Given the description of an element on the screen output the (x, y) to click on. 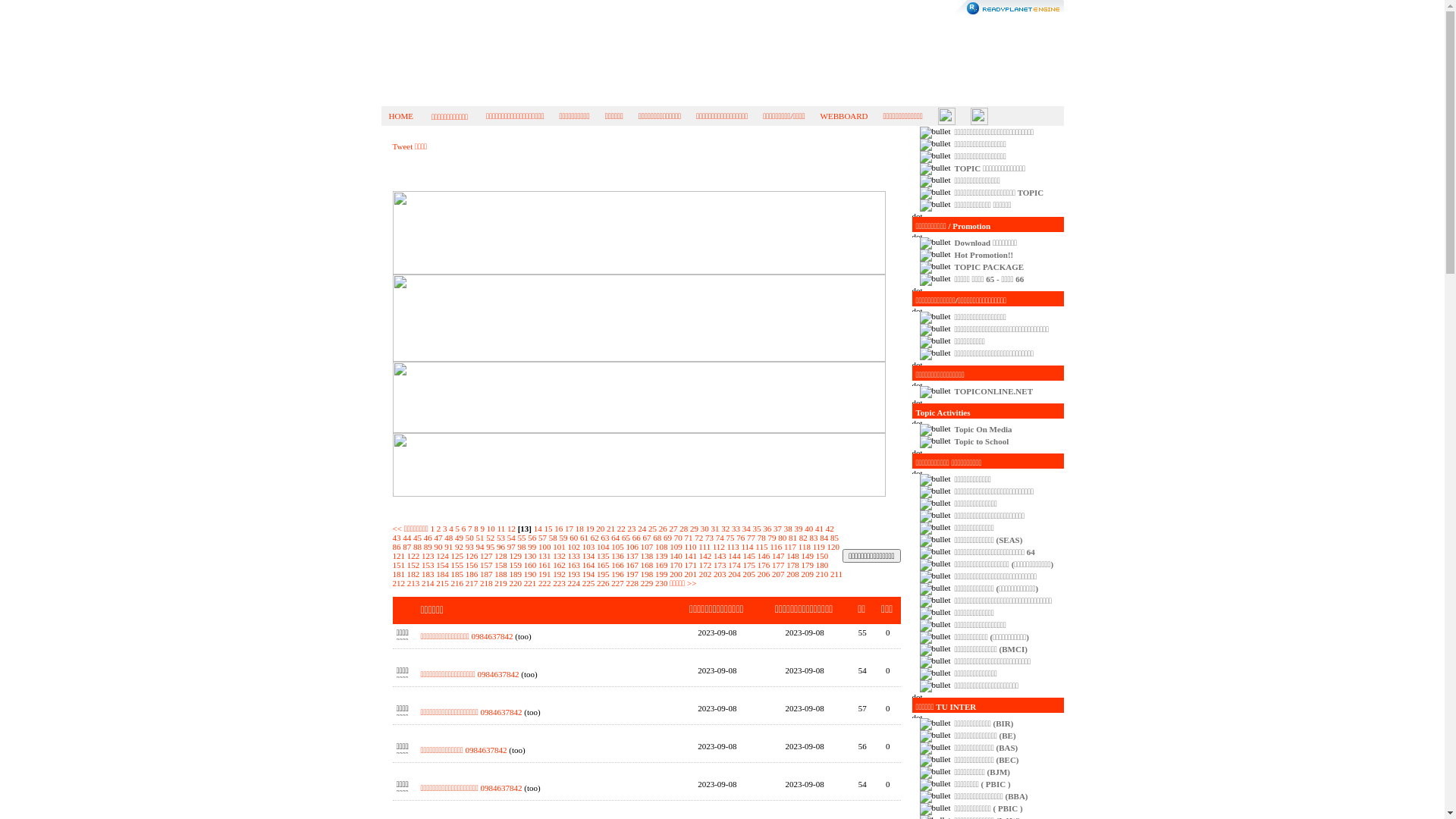
106 Element type: text (632, 546)
83 Element type: text (813, 537)
209 Element type: text (806, 573)
187 Element type: text (486, 573)
151 Element type: text (398, 564)
136 Element type: text (617, 555)
31 Element type: text (714, 528)
107 Element type: text (646, 546)
91 Element type: text (448, 546)
15 Element type: text (547, 528)
197 Element type: text (632, 573)
210 Element type: text (821, 573)
100 Element type: text (544, 546)
172 Element type: text (705, 564)
17 Element type: text (568, 528)
196 Element type: text (617, 573)
176 Element type: text (763, 564)
88 Element type: text (417, 546)
142 Element type: text (705, 555)
84 Element type: text (823, 537)
23 Element type: text (631, 528)
149 Element type: text (806, 555)
178 Element type: text (792, 564)
141 Element type: text (690, 555)
129 Element type: text (515, 555)
227 Element type: text (617, 582)
206 Element type: text (763, 573)
86 Element type: text (396, 546)
171 Element type: text (690, 564)
181 Element type: text (398, 573)
148 Element type: text (792, 555)
60 Element type: text (573, 537)
192 Element type: text (558, 573)
77 Element type: text (750, 537)
131 Element type: text (544, 555)
3 Element type: text (444, 528)
191 Element type: text (544, 573)
24 Element type: text (641, 528)
225 Element type: text (588, 582)
54 Element type: text (511, 537)
185 Element type: text (456, 573)
58 Element type: text (553, 537)
177 Element type: text (777, 564)
203 Element type: text (719, 573)
215 Element type: text (442, 582)
165 Element type: text (602, 564)
170 Element type: text (675, 564)
TOPIC PACKAGE Element type: text (989, 266)
64 Element type: text (615, 537)
214 Element type: text (427, 582)
208 Element type: text (792, 573)
101 Element type: text (558, 546)
146 Element type: text (763, 555)
137 Element type: text (632, 555)
45 Element type: text (417, 537)
230 Element type: text (661, 582)
32 Element type: text (725, 528)
14 Element type: text (537, 528)
105 Element type: text (617, 546)
40 Element type: text (808, 528)
80 Element type: text (782, 537)
195 Element type: text (602, 573)
150 Element type: text (821, 555)
90 Element type: text (437, 546)
156 Element type: text (471, 564)
66 Element type: text (636, 537)
111 Element type: text (704, 546)
217 Element type: text (471, 582)
118 Element type: text (804, 546)
204 Element type: text (734, 573)
200 Element type: text (675, 573)
120 Element type: text (833, 546)
134 Element type: text (588, 555)
160 Element type: text (530, 564)
117 Element type: text (790, 546)
85 Element type: text (834, 537)
132 Element type: text (558, 555)
65 Element type: text (625, 537)
190 Element type: text (530, 573)
7 Element type: text (469, 528)
205 Element type: text (749, 573)
155 Element type: text (456, 564)
138 Element type: text (646, 555)
Topic to School Element type: text (981, 440)
98 Element type: text (521, 546)
143 Element type: text (719, 555)
82 Element type: text (803, 537)
162 Element type: text (558, 564)
222 Element type: text (544, 582)
27 Element type: text (672, 528)
Hot Promotion!! Element type: text (983, 254)
18 Element type: text (579, 528)
59 Element type: text (563, 537)
52 Element type: text (490, 537)
102 Element type: text (573, 546)
229 Element type: text (646, 582)
11 Element type: text (501, 528)
42 Element type: text (829, 528)
126 Element type: text (471, 555)
226 Element type: text (602, 582)
189 Element type: text (515, 573)
115 Element type: text (761, 546)
164 Element type: text (588, 564)
159 Element type: text (515, 564)
30 Element type: text (704, 528)
25 Element type: text (652, 528)
12 Element type: text (511, 528)
2 Element type: text (438, 528)
224 Element type: text (573, 582)
220 Element type: text (515, 582)
Topic On Media Element type: text (983, 428)
124 Element type: text (442, 555)
223 Element type: text (558, 582)
218 Element type: text (486, 582)
56 Element type: text (531, 537)
76 Element type: text (740, 537)
TOPICONLINE.NET Element type: text (993, 390)
152 Element type: text (413, 564)
87 Element type: text (406, 546)
36 Element type: text (766, 528)
89 Element type: text (427, 546)
127 Element type: text (486, 555)
97 Element type: text (511, 546)
212 Element type: text (398, 582)
61 Element type: text (584, 537)
114 Element type: text (746, 546)
109 Element type: text (675, 546)
198 Element type: text (646, 573)
163 Element type: text (573, 564)
70 Element type: text (678, 537)
116 Element type: text (775, 546)
9 Element type: text (482, 528)
71 Element type: text (688, 537)
169 Element type: text (661, 564)
211 Element type: text (836, 573)
216 Element type: text (456, 582)
48 Element type: text (448, 537)
1 Element type: text (432, 528)
20 Element type: text (600, 528)
92 Element type: text (459, 546)
119 Element type: text (818, 546)
221 Element type: text (530, 582)
44 Element type: text (406, 537)
50 Element type: text (469, 537)
69 Element type: text (667, 537)
99 Element type: text (531, 546)
57 Element type: text (542, 537)
37 Element type: text (777, 528)
147 Element type: text (777, 555)
179 Element type: text (806, 564)
153 Element type: text (427, 564)
75 Element type: text (730, 537)
29 Element type: text (694, 528)
6 Element type: text (463, 528)
158 Element type: text (500, 564)
46 Element type: text (427, 537)
38 Element type: text (788, 528)
16 Element type: text (558, 528)
63 Element type: text (604, 537)
128 Element type: text (500, 555)
ReadyPlanet.com Element type: hover (1007, 7)
186 Element type: text (471, 573)
74 Element type: text (719, 537)
10 Element type: text (490, 528)
202 Element type: text (705, 573)
219 Element type: text (500, 582)
123 Element type: text (427, 555)
133 Element type: text (573, 555)
108 Element type: text (661, 546)
22 Element type: text (621, 528)
113 Element type: text (733, 546)
188 Element type: text (500, 573)
144 Element type: text (734, 555)
213 Element type: text (413, 582)
39 Element type: text (797, 528)
43 Element type: text (396, 537)
145 Element type: text (749, 555)
140 Element type: text (675, 555)
41 Element type: text (819, 528)
199 Element type: text (661, 573)
167 Element type: text (632, 564)
174 Element type: text (734, 564)
33 Element type: text (735, 528)
173 Element type: text (719, 564)
104 Element type: text (602, 546)
51 Element type: text (480, 537)
HOME Element type: text (400, 115)
184 Element type: text (442, 573)
47 Element type: text (437, 537)
68 Element type: text (656, 537)
78 Element type: text (761, 537)
55 Element type: text (521, 537)
19 Element type: text (589, 528)
73 Element type: text (709, 537)
166 Element type: text (617, 564)
4 Element type: text (450, 528)
183 Element type: text (427, 573)
8 Element type: text (475, 528)
103 Element type: text (588, 546)
180 Element type: text (821, 564)
130 Element type: text (530, 555)
95 Element type: text (490, 546)
72 Element type: text (698, 537)
157 Element type: text (486, 564)
62 Element type: text (594, 537)
35 Element type: text (756, 528)
79 Element type: text (771, 537)
67 Element type: text (647, 537)
175 Element type: text (749, 564)
49 Element type: text (459, 537)
81 Element type: text (792, 537)
53 Element type: text (500, 537)
112 Element type: text (718, 546)
122 Element type: text (413, 555)
161 Element type: text (544, 564)
135 Element type: text (602, 555)
96 Element type: text (500, 546)
194 Element type: text (588, 573)
28 Element type: text (683, 528)
5 Element type: text (457, 528)
193 Element type: text (573, 573)
154 Element type: text (442, 564)
21 Element type: text (610, 528)
125 Element type: text (456, 555)
WEBBOARD Element type: text (844, 115)
182 Element type: text (413, 573)
121 Element type: text (398, 555)
207 Element type: text (777, 573)
228 Element type: text (632, 582)
139 Element type: text (661, 555)
168 Element type: text (646, 564)
26 Element type: text (662, 528)
34 Element type: text (746, 528)
93 Element type: text (469, 546)
201 Element type: text (690, 573)
94 Element type: text (480, 546)
110 Element type: text (690, 546)
